Given the description of an element on the screen output the (x, y) to click on. 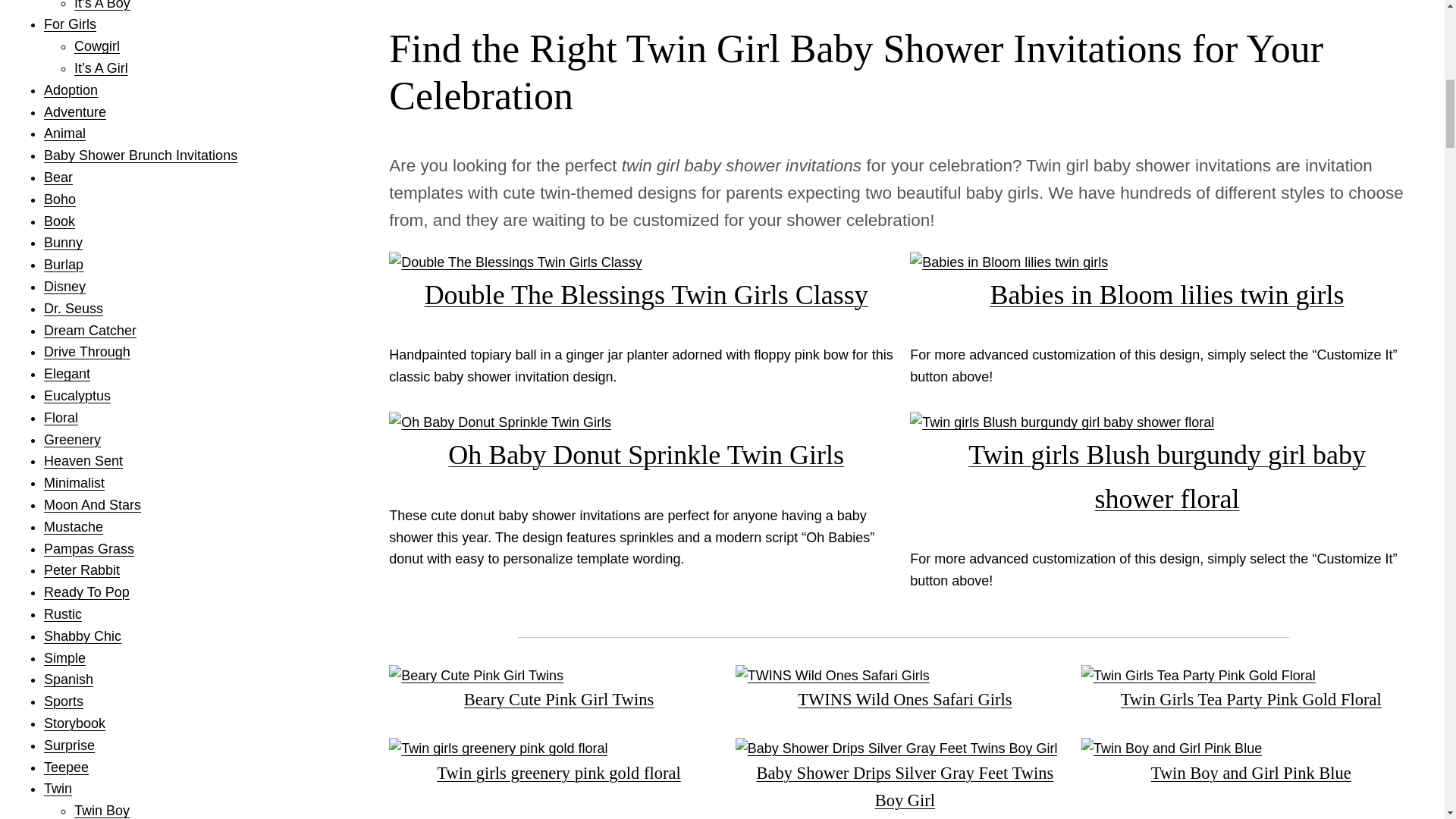
Beary Cute Pink Girl Twins (558, 690)
TWINS Wild Ones Safari Girls (904, 690)
Twin Girls Tea Party Pink Gold Floral (1251, 690)
Oh Baby Donut Sprinkle Twin Girls (645, 445)
Double The Blessings Twin Girls Classy (645, 285)
Babies in Bloom lilies twin girls (1166, 285)
Twin girls Blush burgundy girl baby shower floral (1166, 467)
Twin girls greenery pink gold floral (558, 764)
Baby Shower Drips Silver Gray Feet Twins Boy Girl (904, 777)
Twin Boy and Girl Pink Blue (1251, 764)
